Given the description of an element on the screen output the (x, y) to click on. 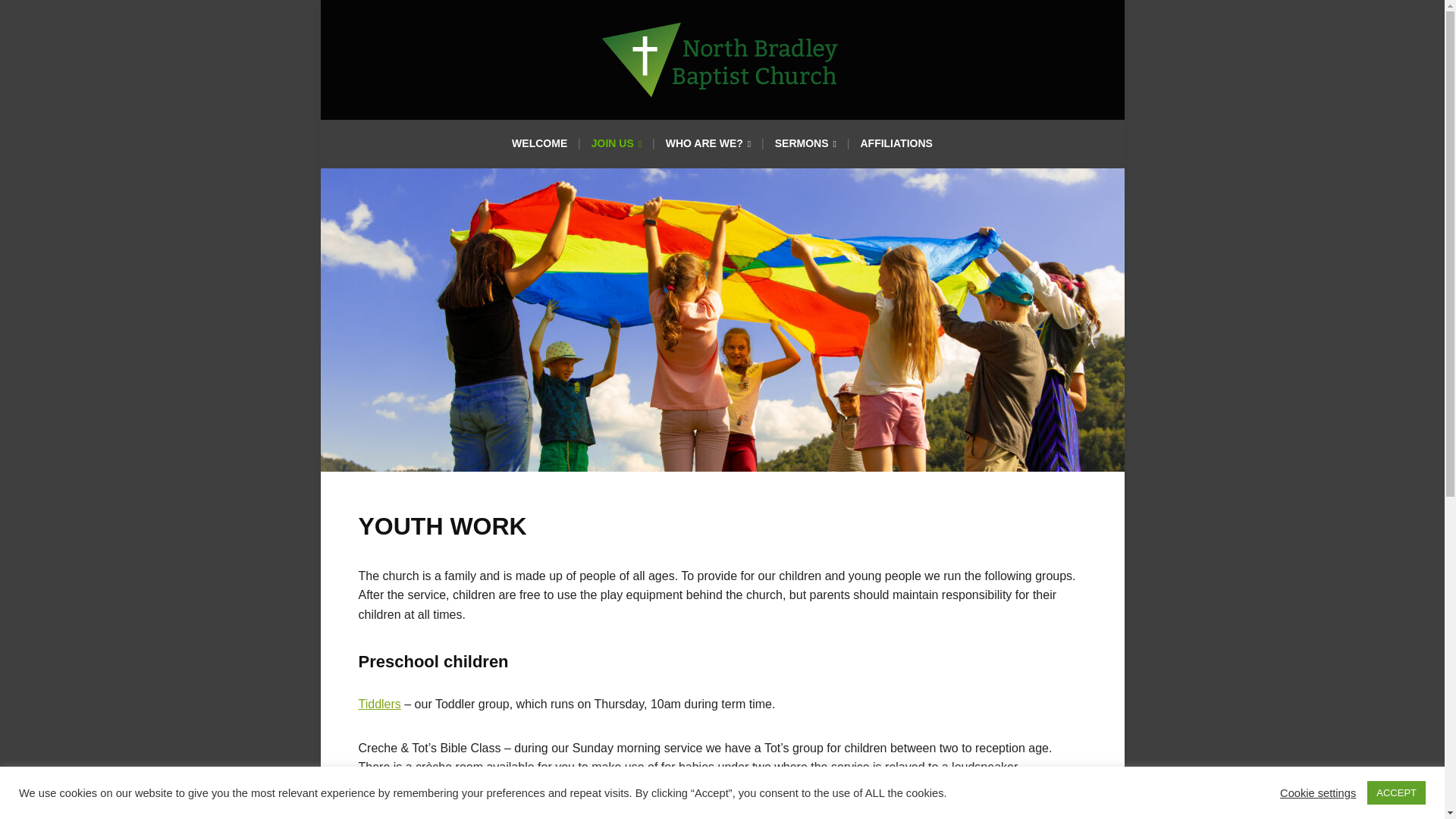
WELCOME (539, 147)
JOIN US (616, 148)
